Given the description of an element on the screen output the (x, y) to click on. 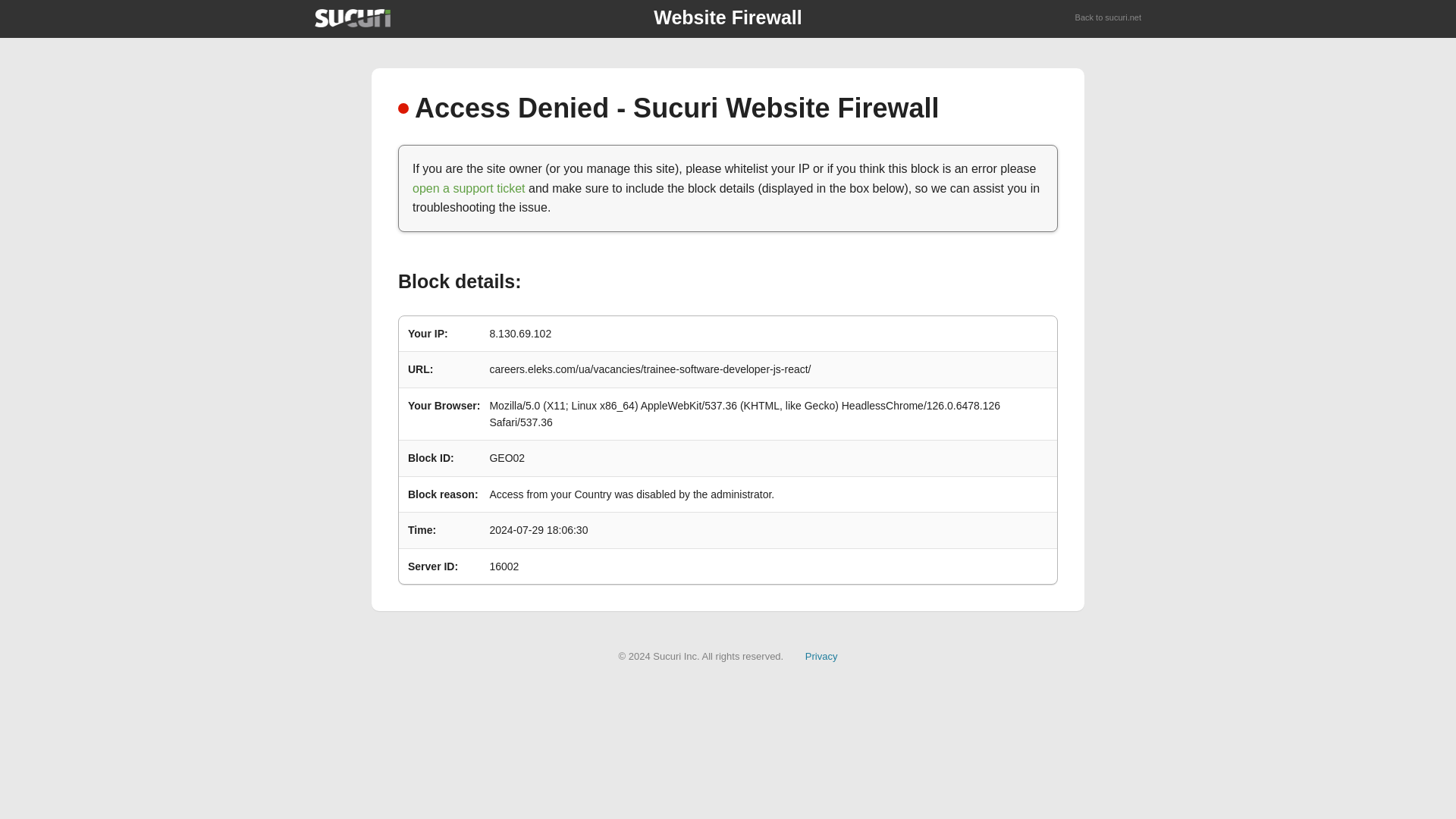
Privacy (821, 655)
open a support ticket (468, 187)
Back to sucuri.net (1108, 18)
